Given the description of an element on the screen output the (x, y) to click on. 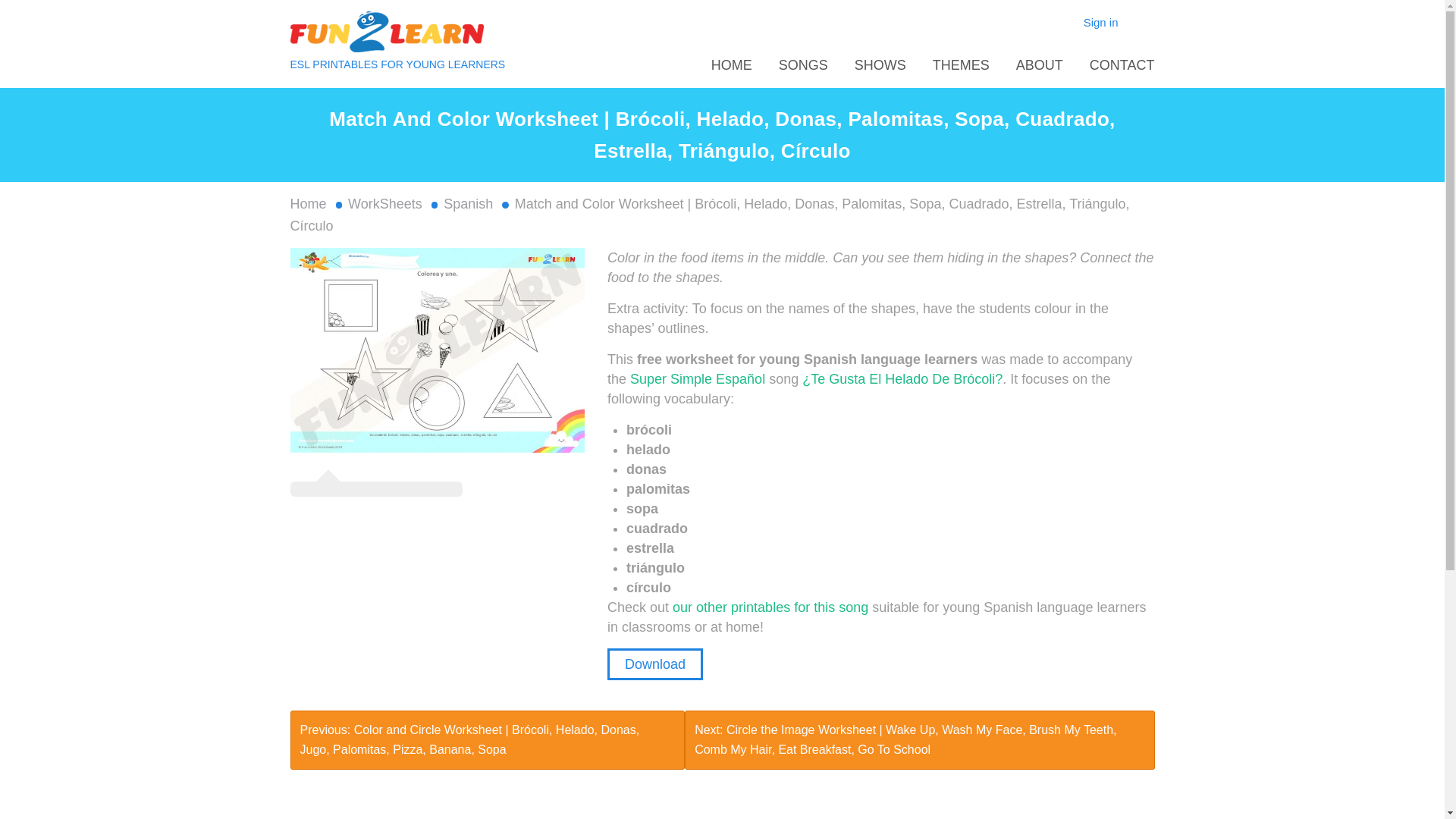
Search (21, 7)
SHOWS (879, 65)
SONGS (803, 65)
HOME (731, 65)
THEMES (961, 65)
Spanish (470, 203)
ABOUT (1039, 65)
Download (655, 664)
Go to Fun2Learn. (309, 203)
Home (309, 203)
Download (655, 664)
Sign in (1101, 21)
our other printables for this song (769, 607)
CONTACT (1121, 65)
Go to the Spanish Language archives. (470, 203)
